Given the description of an element on the screen output the (x, y) to click on. 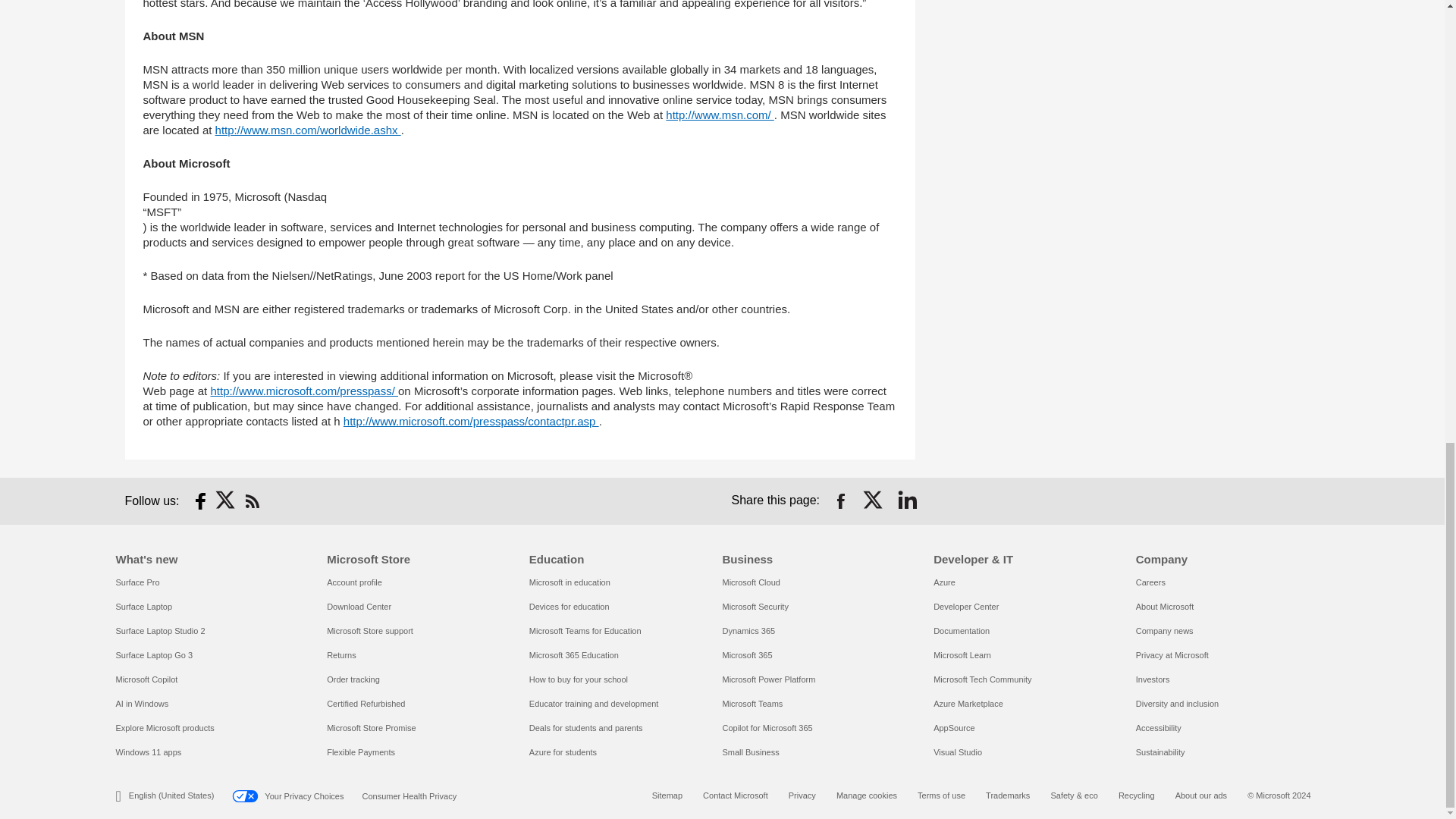
Share on LinkedIn (907, 500)
RSS Subscription (252, 500)
Share on Facebook (840, 500)
Follow on Facebook (200, 500)
Share on Twitter (873, 500)
Follow on Twitter (226, 500)
